Given the description of an element on the screen output the (x, y) to click on. 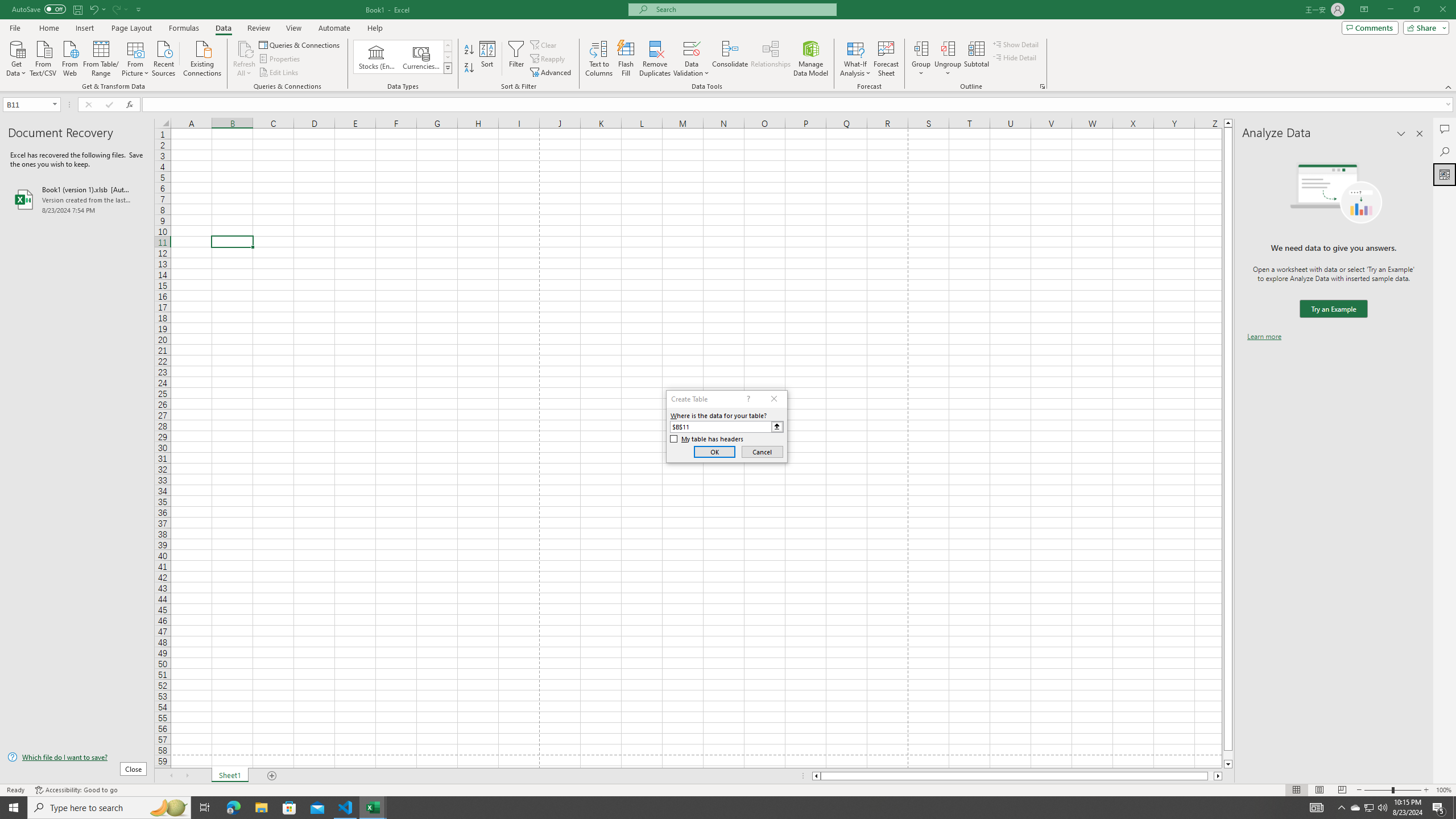
Minimize (1390, 9)
Subtotal (976, 58)
File Tab (15, 27)
Ribbon Display Options (1364, 9)
Filter (515, 58)
System (6, 6)
Undo (96, 9)
Recent Sources (163, 57)
Zoom (1392, 790)
Scroll Left (171, 775)
Data (223, 28)
Close pane (1419, 133)
Page Layout (131, 28)
Undo (92, 9)
Which file do I want to save? (77, 757)
